Given the description of an element on the screen output the (x, y) to click on. 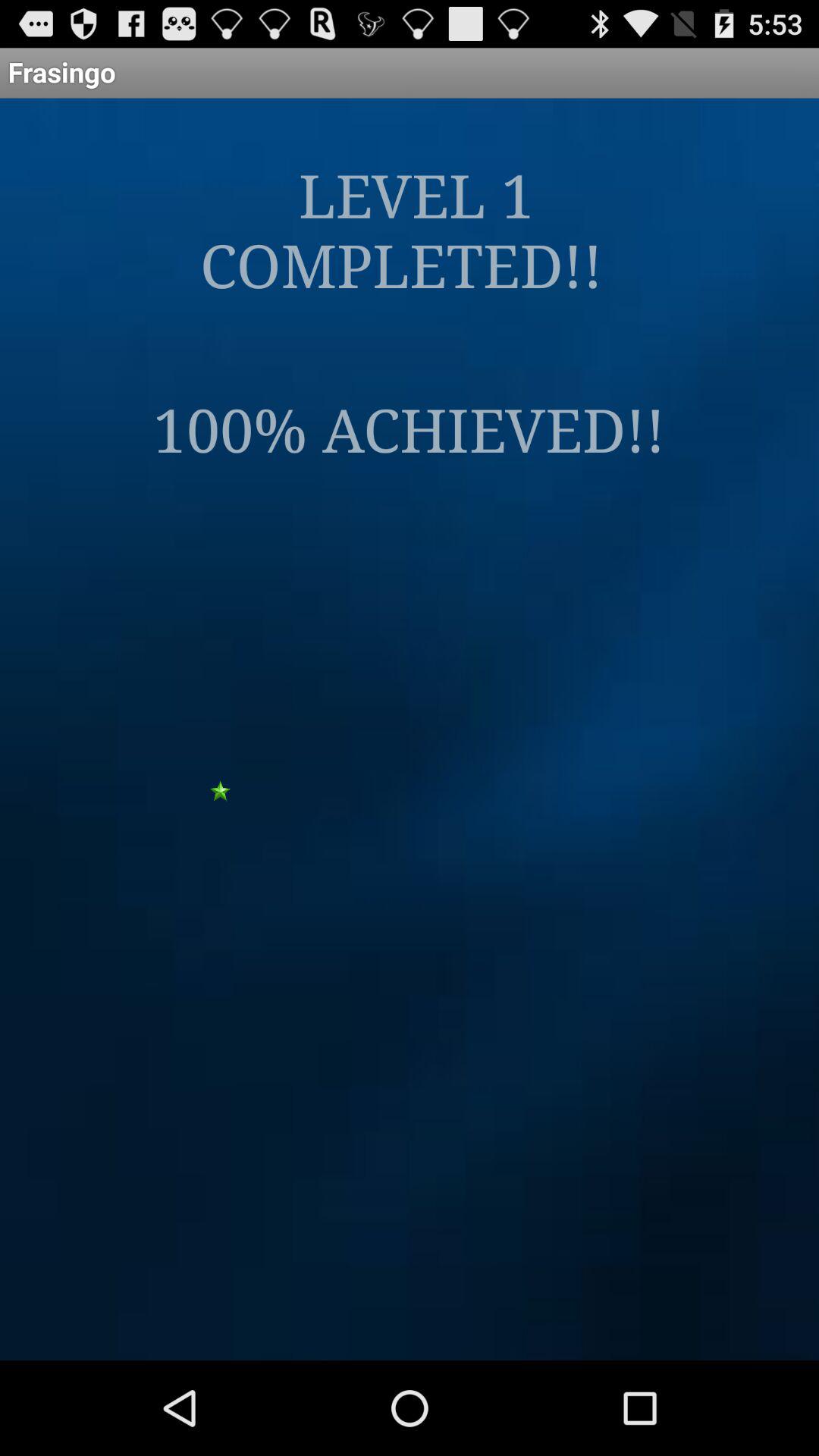
scroll to the  level 1 completed!!  icon (408, 228)
